Given the description of an element on the screen output the (x, y) to click on. 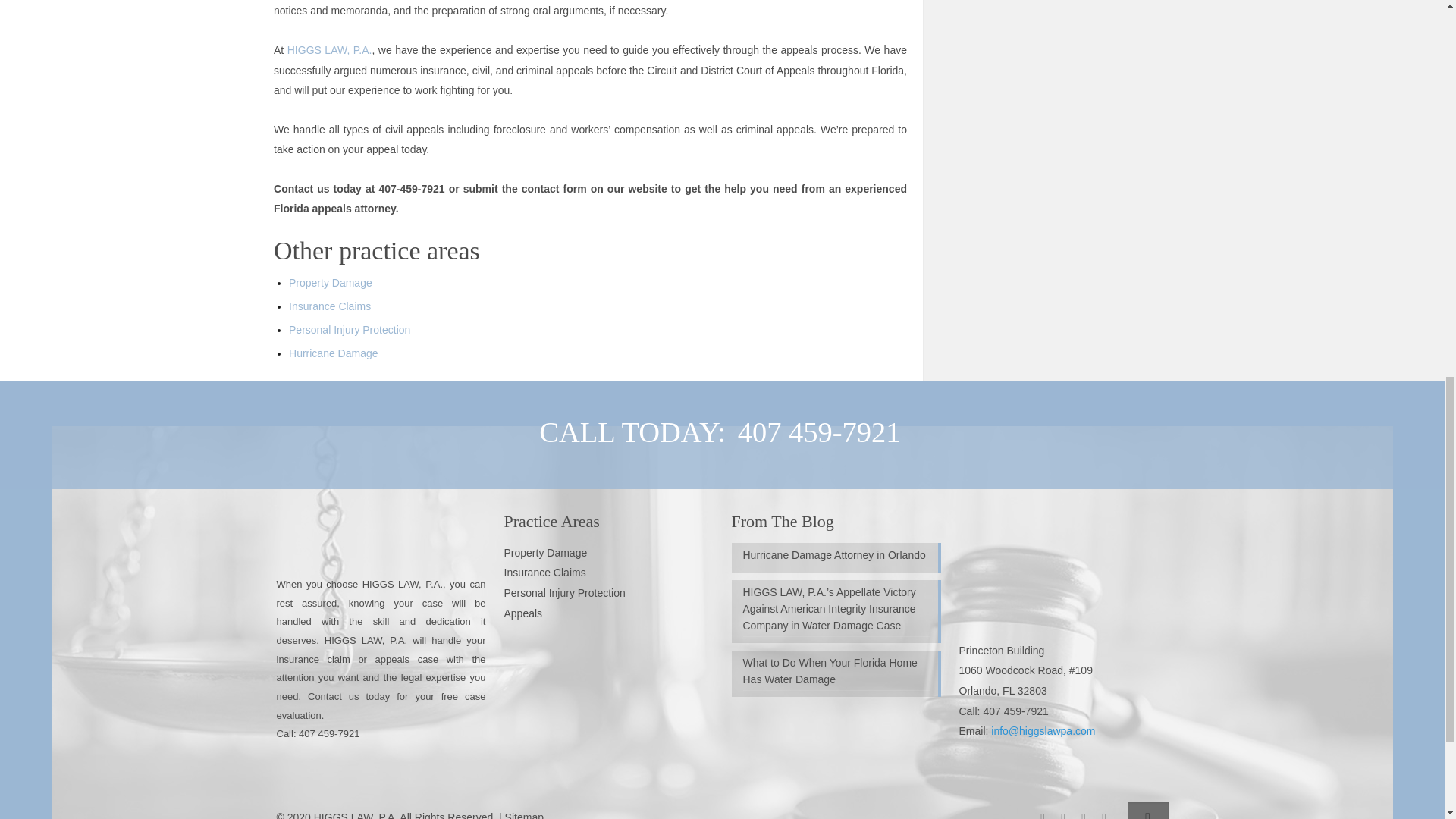
Twitter (1082, 814)
Property Damage (544, 552)
Personal Injury Protection (563, 592)
Insurance Claims (544, 572)
Hurricane Damage Attorney in Orlando (836, 556)
Insurance Claims (329, 306)
Facebook (1041, 814)
Sitemap (524, 815)
LinkedIn (1104, 814)
Appeals (522, 613)
